Given the description of an element on the screen output the (x, y) to click on. 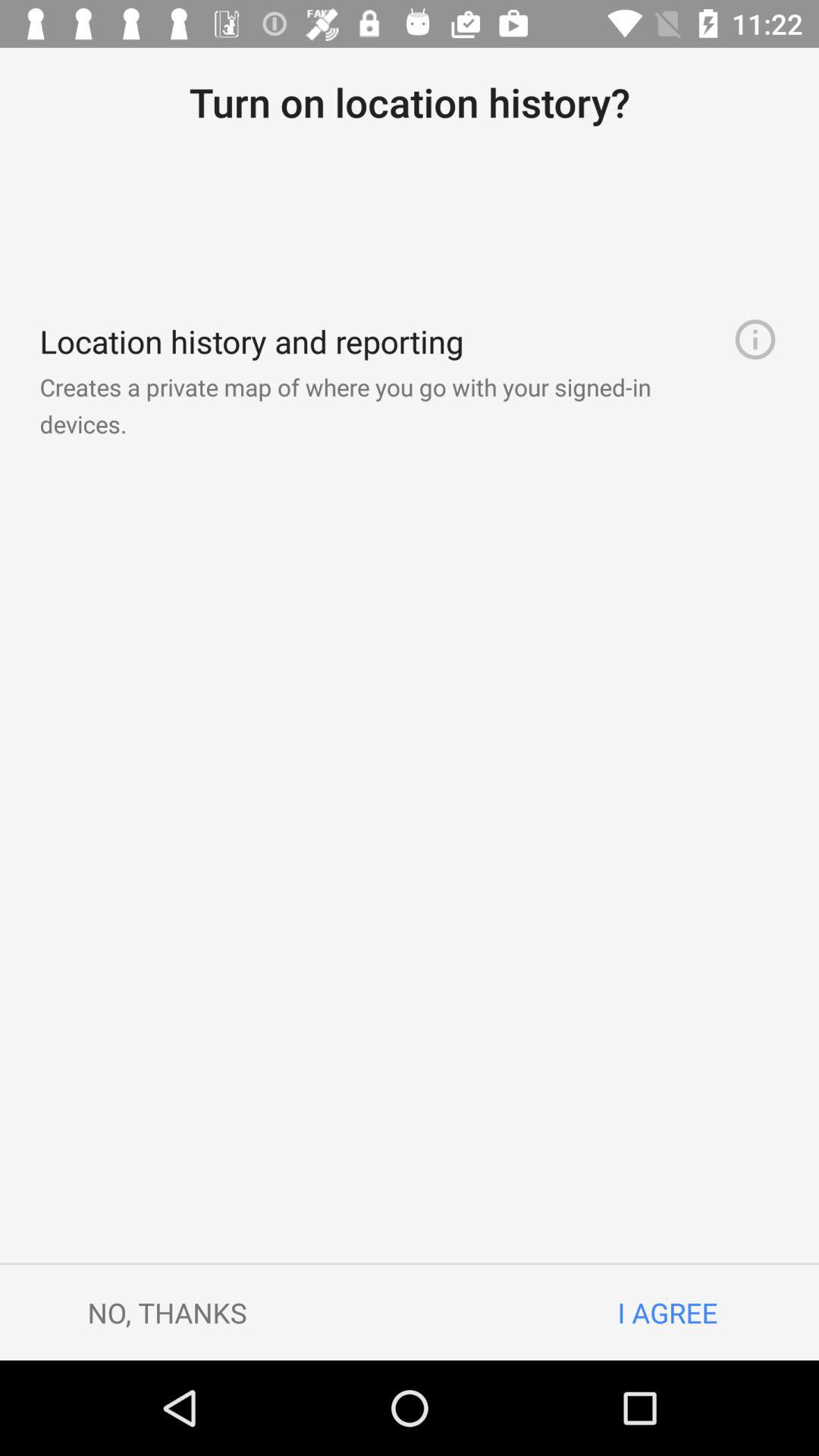
open icon at the top right corner (755, 339)
